Given the description of an element on the screen output the (x, y) to click on. 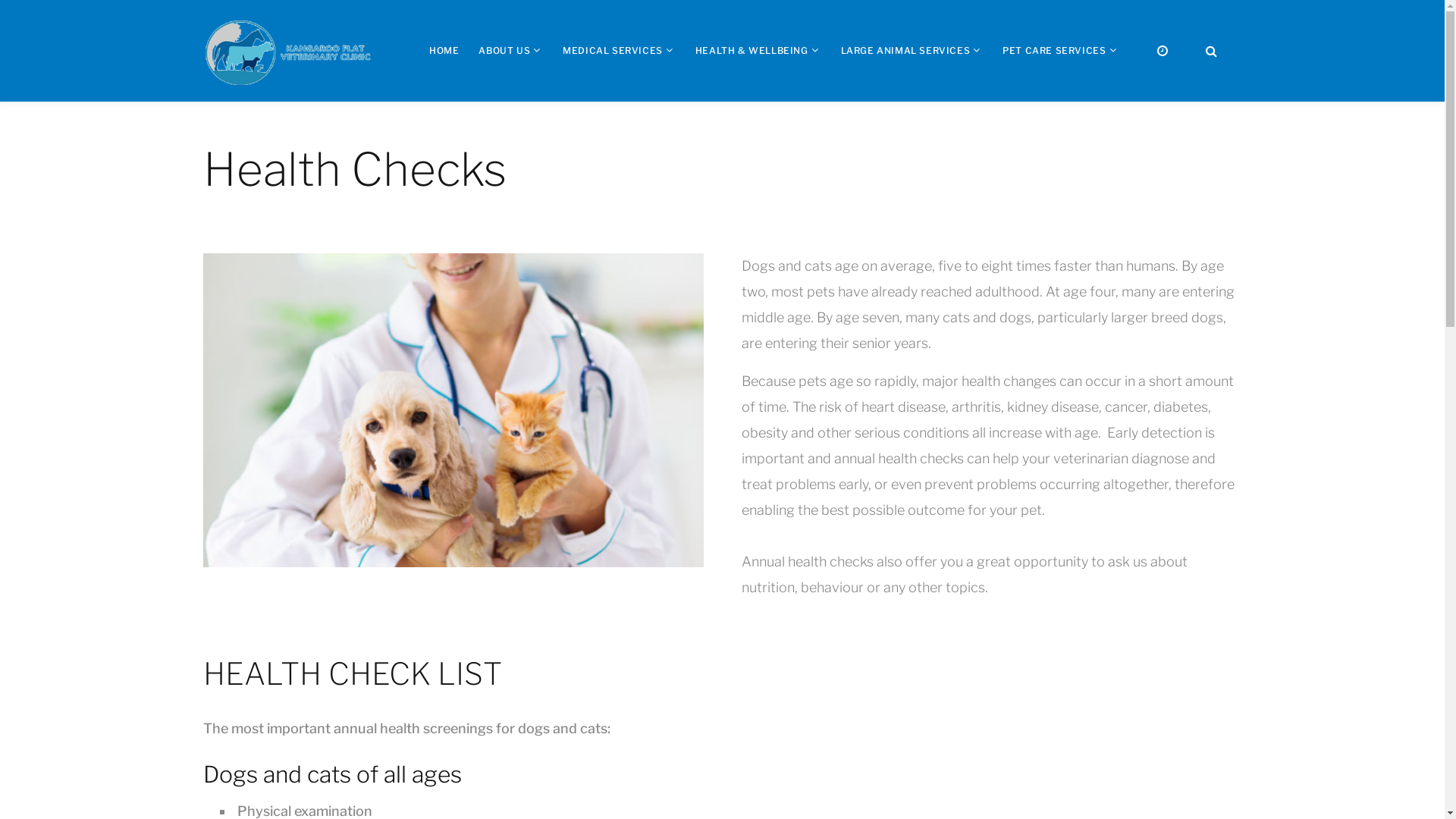
LARGE ANIMAL SERVICES Element type: text (905, 50)
HOME Element type: text (443, 50)
PET CARE SERVICES Element type: text (1053, 50)
HEALTH & WELLBEING Element type: text (751, 50)
ABOUT US Element type: text (504, 50)
MEDICAL SERVICES Element type: text (612, 50)
